Given the description of an element on the screen output the (x, y) to click on. 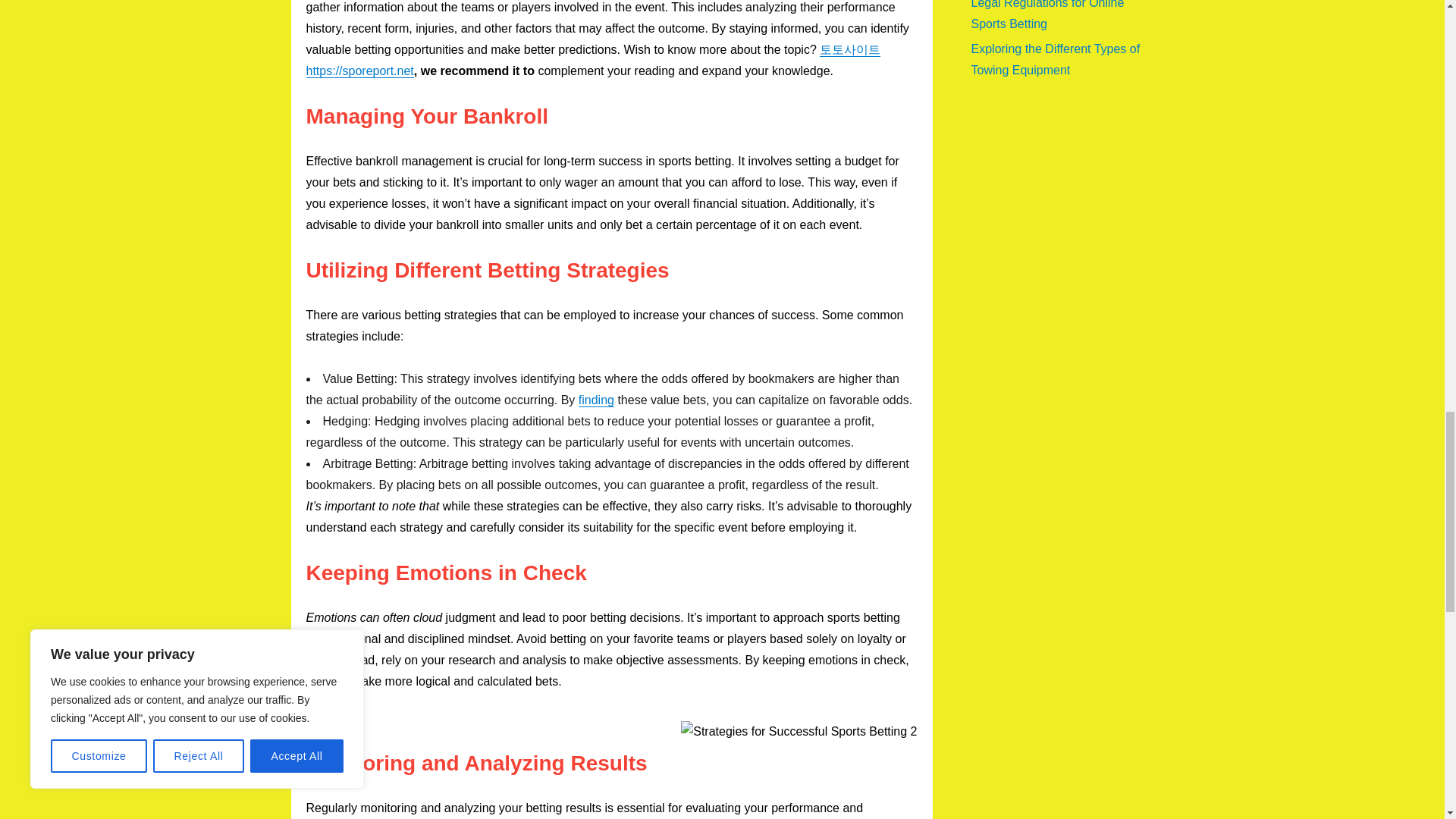
finding (596, 399)
